Given the description of an element on the screen output the (x, y) to click on. 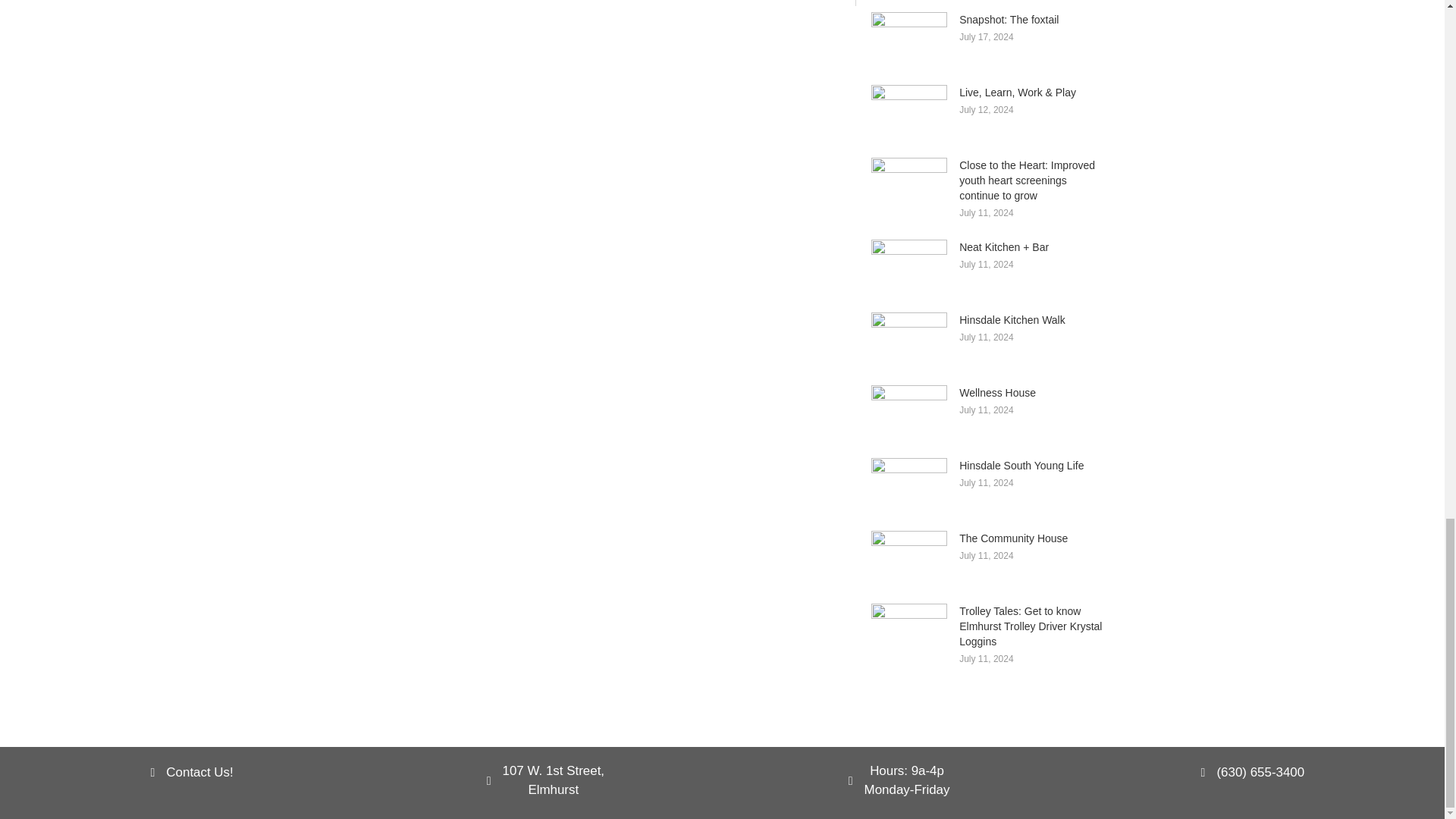
Snapshot: The foxtail (1008, 19)
